Given the description of an element on the screen output the (x, y) to click on. 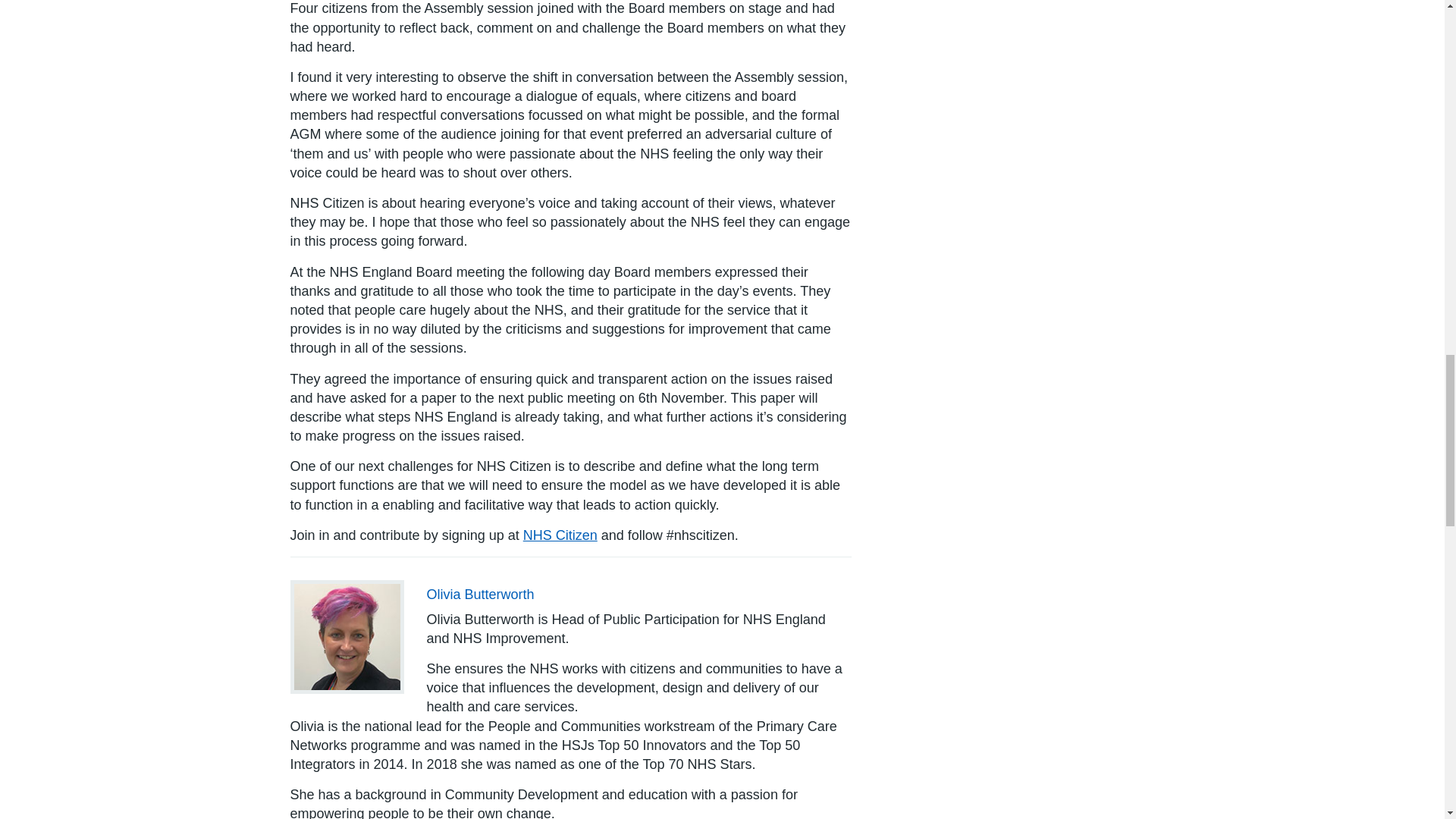
NHS Citizen (559, 534)
Olivia Butterworth (480, 594)
